Given the description of an element on the screen output the (x, y) to click on. 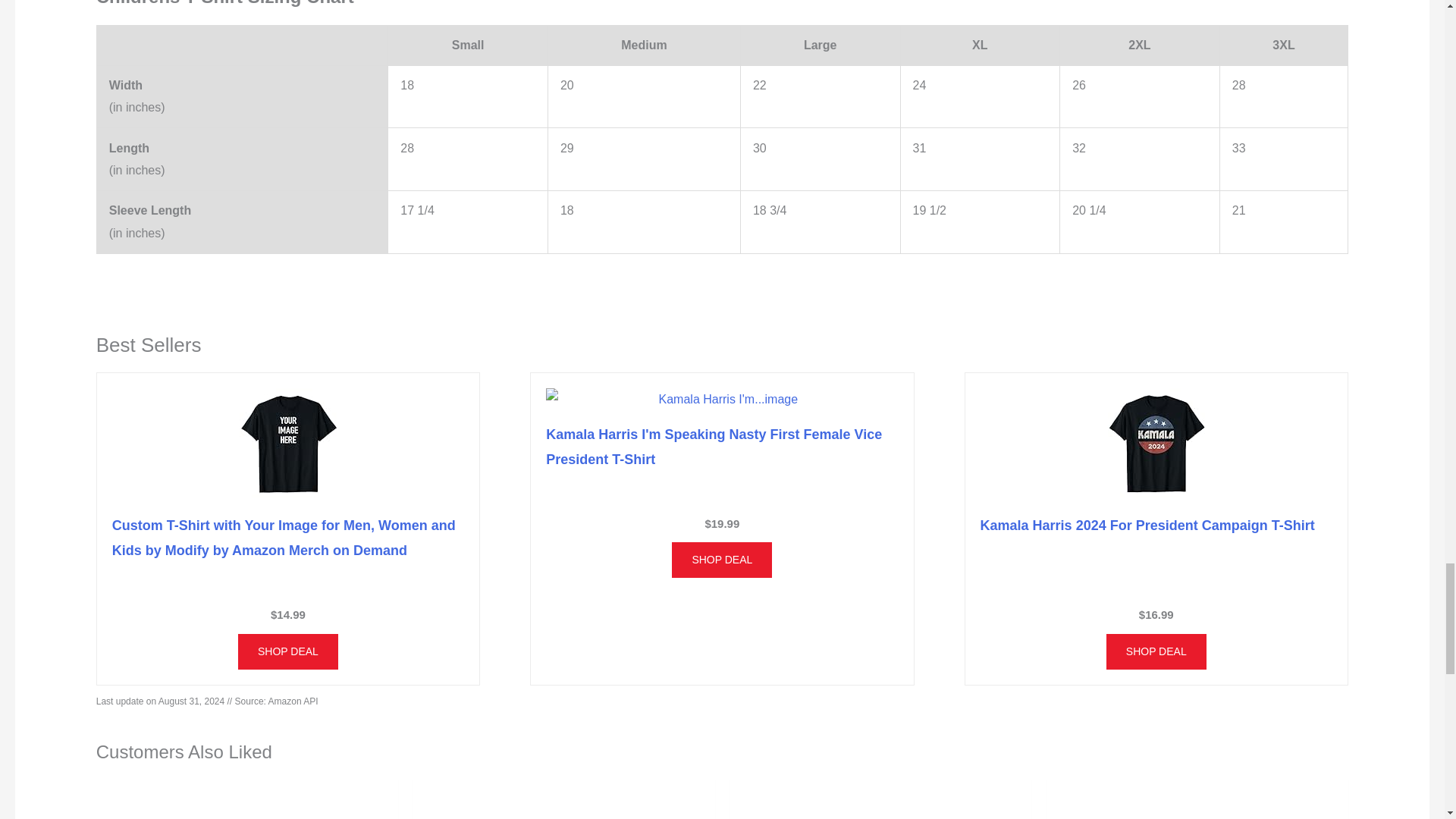
SHOP DEAL (287, 651)
Kamala Harris 2024 For President Campaign T-Shirt (1146, 525)
